Given the description of an element on the screen output the (x, y) to click on. 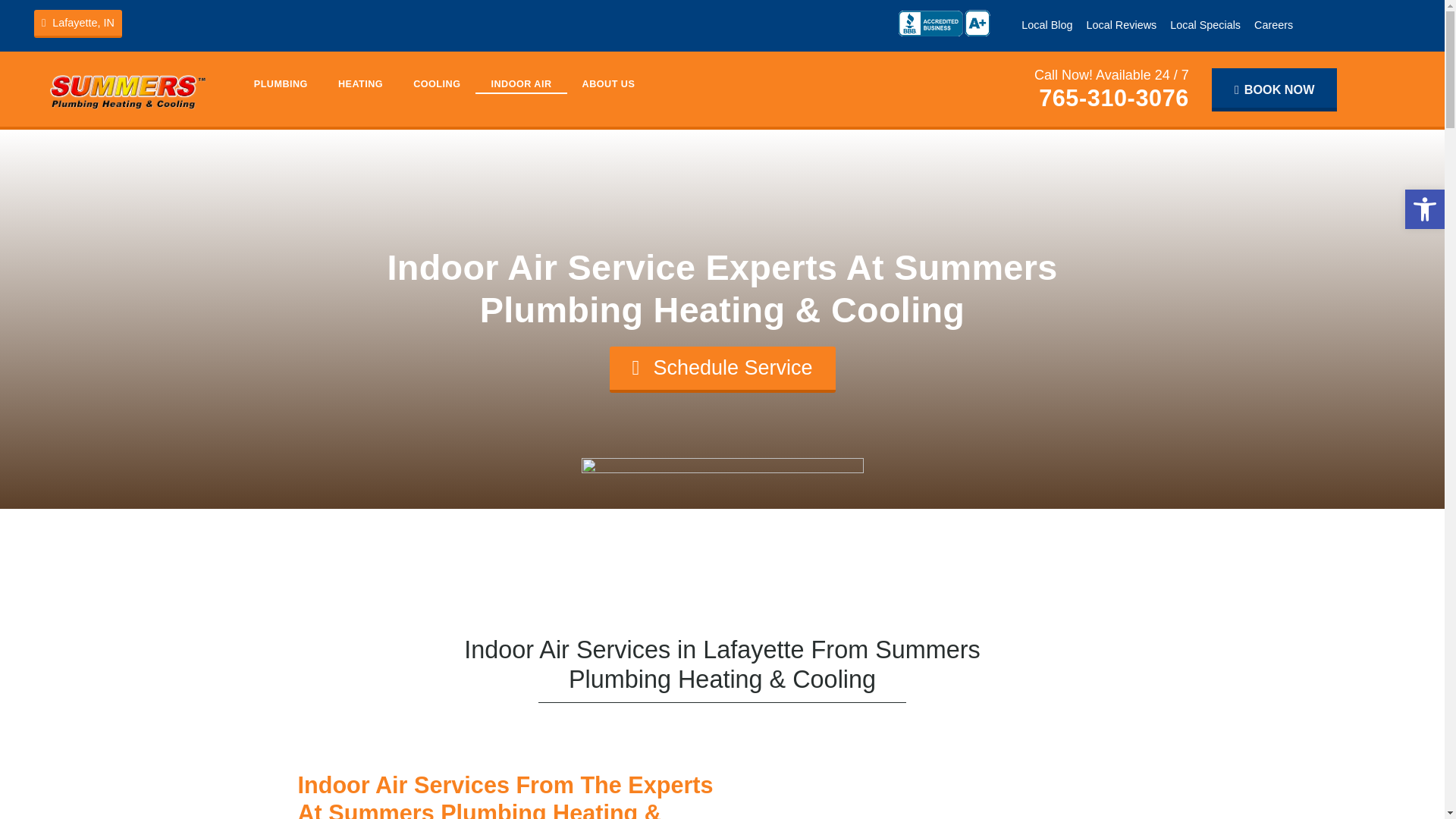
HEATING (360, 84)
INDOOR AIR (521, 84)
Careers (1273, 24)
PLUMBING (280, 84)
Accessibility Tools (1424, 209)
Local Reviews (1120, 24)
Accessibility Tools (1424, 209)
Local Specials (1205, 24)
Lafayette, IN (77, 23)
Local Blog (1046, 24)
